Given the description of an element on the screen output the (x, y) to click on. 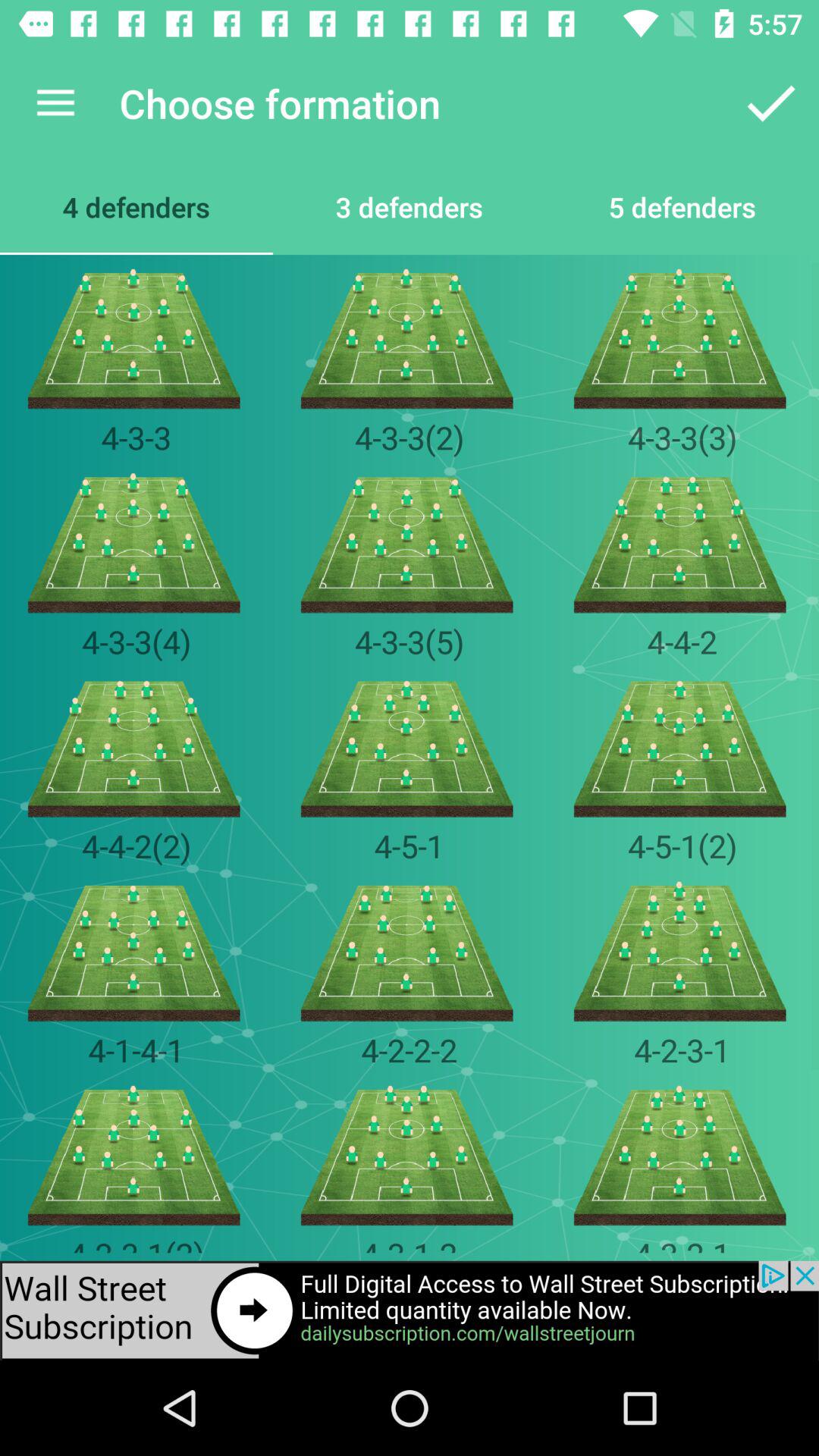
app advertisement (409, 1310)
